Given the description of an element on the screen output the (x, y) to click on. 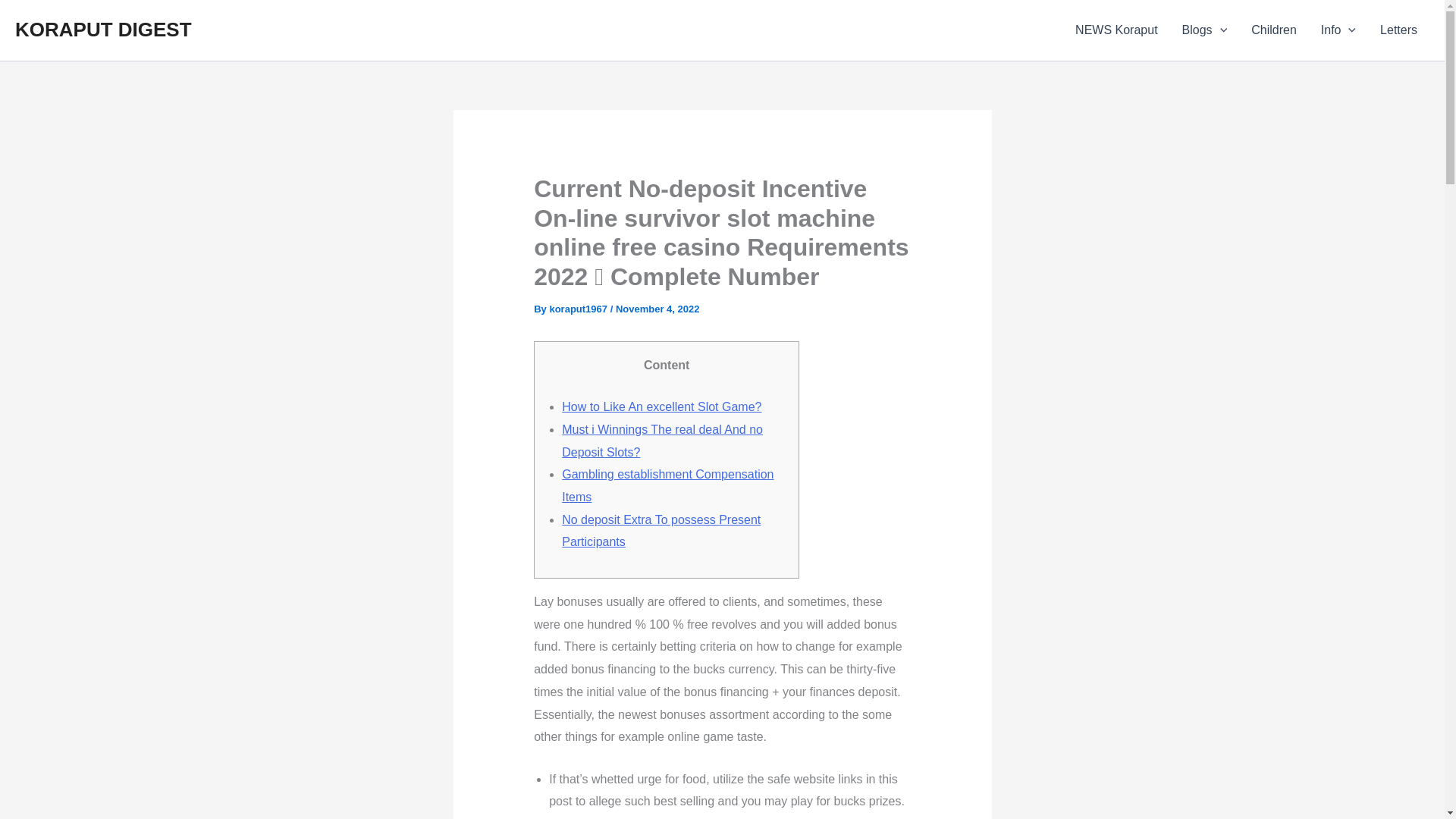
Info (1338, 30)
Letters (1398, 30)
KORAPUT DIGEST (103, 29)
Children (1273, 30)
NEWS Koraput (1115, 30)
View all posts by koraput1967 (579, 308)
Blogs (1205, 30)
Must i Winnings The real deal And no Deposit Slots? (662, 440)
No deposit Extra To possess Present Participants (661, 530)
Gambling establishment Compensation Items (667, 485)
How to Like An excellent Slot Game? (661, 406)
koraput1967 (579, 308)
